Given the description of an element on the screen output the (x, y) to click on. 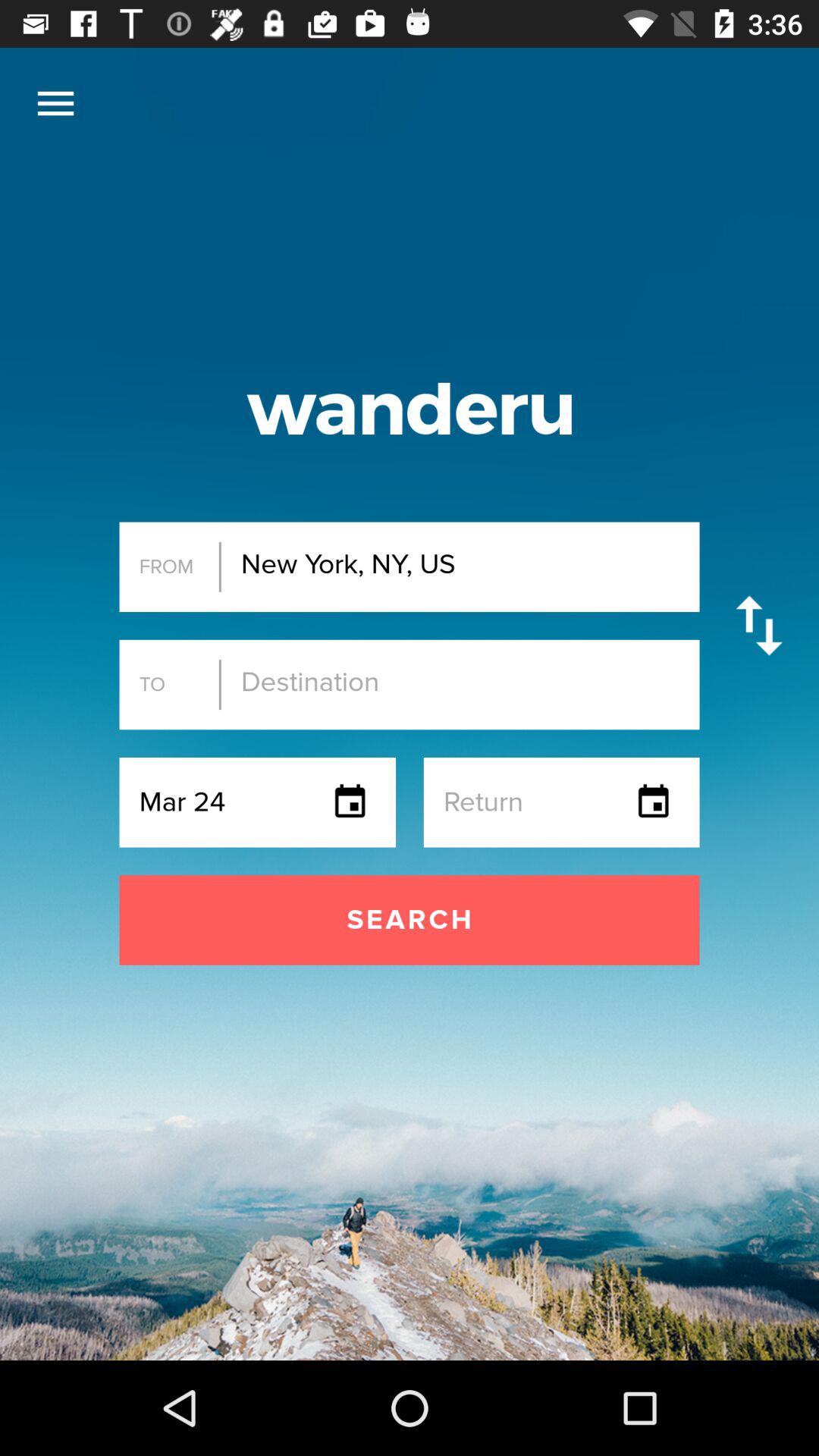
choose item above search icon (55, 103)
